Given the description of an element on the screen output the (x, y) to click on. 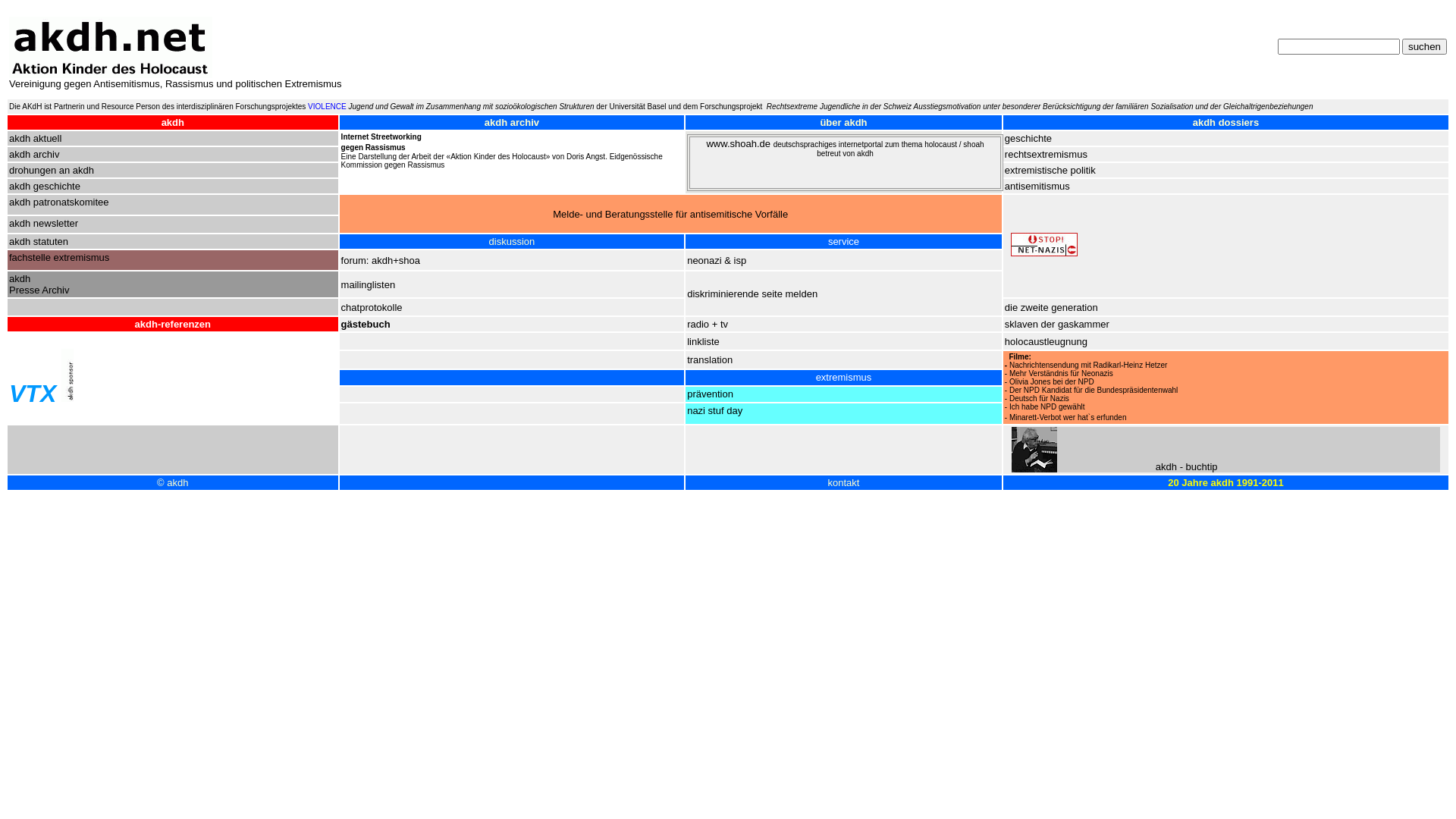
Internet Streetworking
gegen Rassismus Element type: text (381, 141)
Nachrichtensendung mit Radikarl-Heinz Hetzer Element type: text (1088, 364)
akdh statuten Element type: text (38, 241)
forum: akdh+shoa Element type: text (380, 260)
akdh archiv Element type: text (511, 122)
akdh
Presse Archiv Element type: text (39, 284)
seite melden Element type: text (789, 293)
akdh-referenzen Element type: text (172, 323)
radio + tv Element type: text (707, 323)
die zweite generation Element type: text (1051, 307)
Minarett-Verbot wer hat`s erfunden Element type: text (1067, 417)
akdh aktuell Element type: text (35, 138)
fachstelle extremismus Element type: text (59, 257)
antisemitismus Element type: text (1037, 185)
drohungen an akdh Element type: text (51, 169)
Olivia Jones bei der NPD Element type: text (1051, 381)
neonazi & isp Element type: text (716, 260)
diskriminierende Element type: text (724, 293)
VTX Element type: text (32, 393)
mailinglisten Element type: text (368, 284)
holocaustleugnung Element type: text (1045, 340)
akdh - buchtip Element type: text (1186, 466)
extremistische politik Element type: text (1049, 169)
sklaven der gaskammer Element type: text (1056, 323)
linkliste Element type: text (703, 339)
translation Element type: text (709, 359)
rechtsextremismus Element type: text (1045, 154)
akdh dossiers Element type: text (1225, 122)
chatprotokolle Element type: text (371, 307)
geschichte Element type: text (1027, 138)
nazi stuf day Element type: text (714, 410)
akdh geschichte Element type: text (44, 185)
VIOLENCE Element type: text (326, 106)
www.shoah.de Element type: text (739, 143)
akdh patronatskomitee Element type: text (59, 201)
kontakt Element type: text (843, 482)
akdh archiv Element type: text (34, 154)
akdh newsletter Element type: text (43, 223)
